Given the description of an element on the screen output the (x, y) to click on. 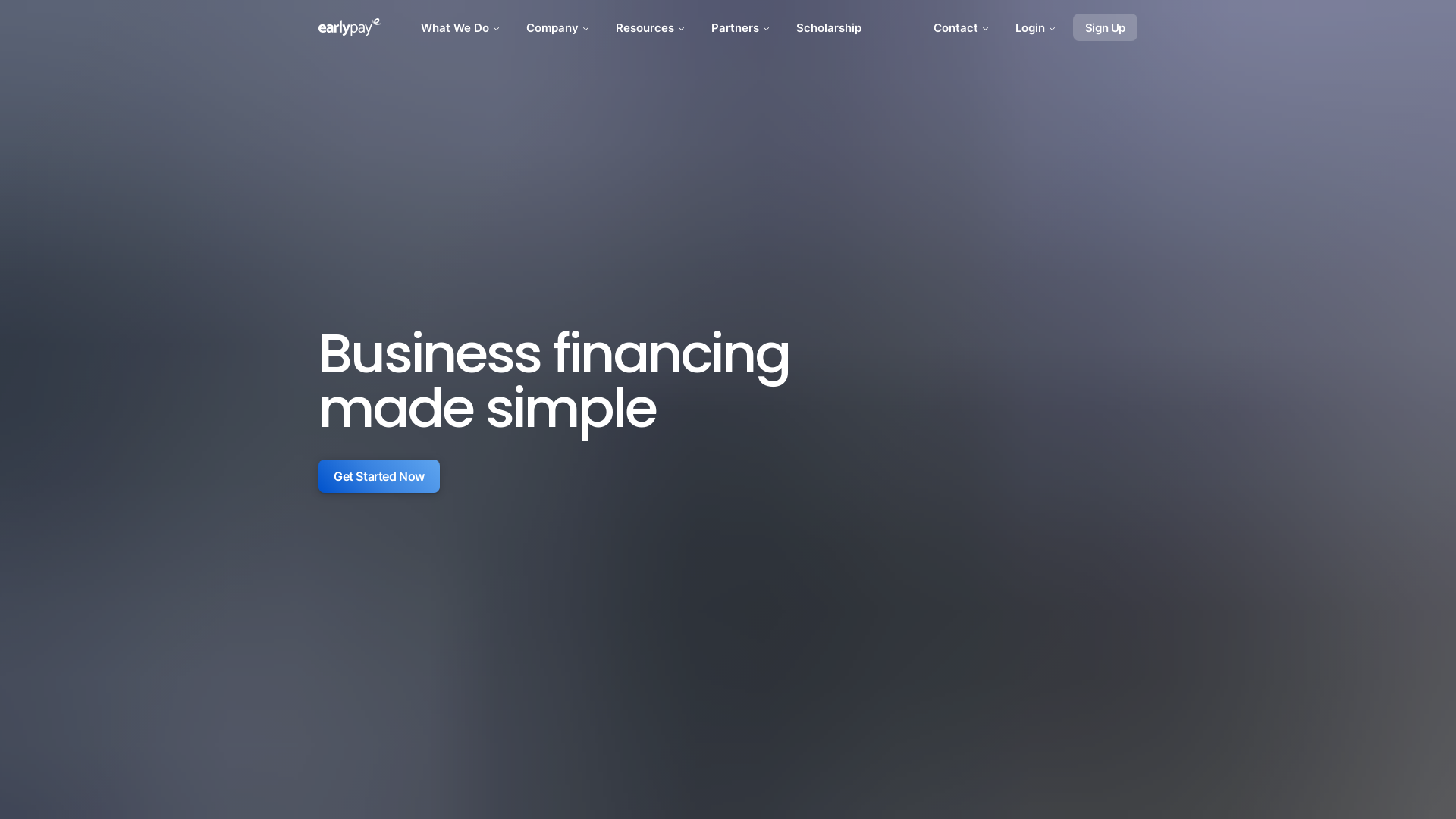
Scholarship Element type: text (828, 26)
What We Do Element type: text (461, 26)
Resources Element type: text (651, 26)
Partners Element type: text (741, 26)
Earlypay Element type: text (349, 27)
Contact Element type: text (962, 26)
Get Started Now Element type: text (378, 475)
Login Element type: text (1036, 26)
Sign Up Element type: text (1105, 26)
Company Element type: text (558, 26)
